Given the description of an element on the screen output the (x, y) to click on. 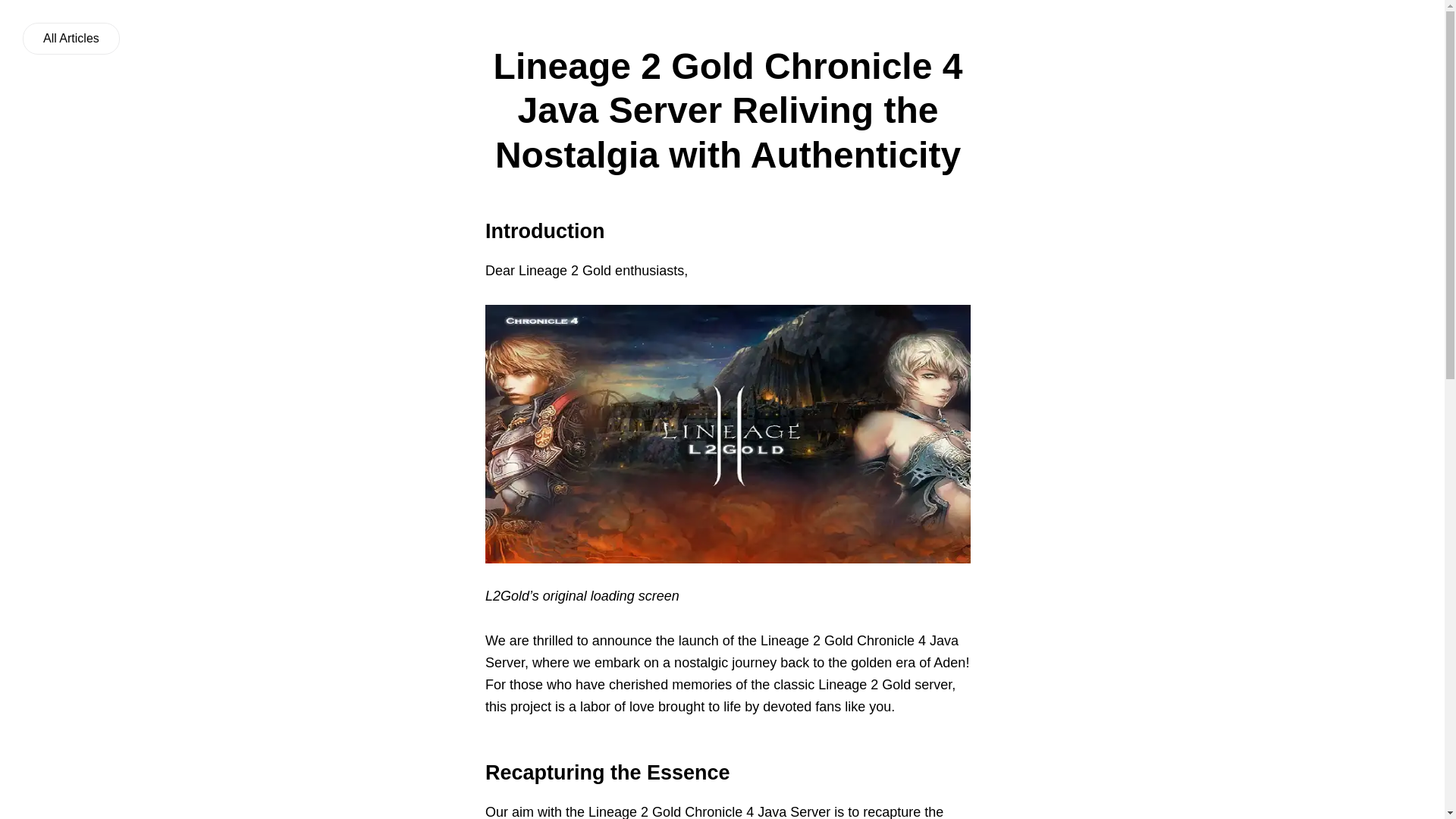
L2Gold's original loading screen (727, 433)
All Articles (71, 38)
